Given the description of an element on the screen output the (x, y) to click on. 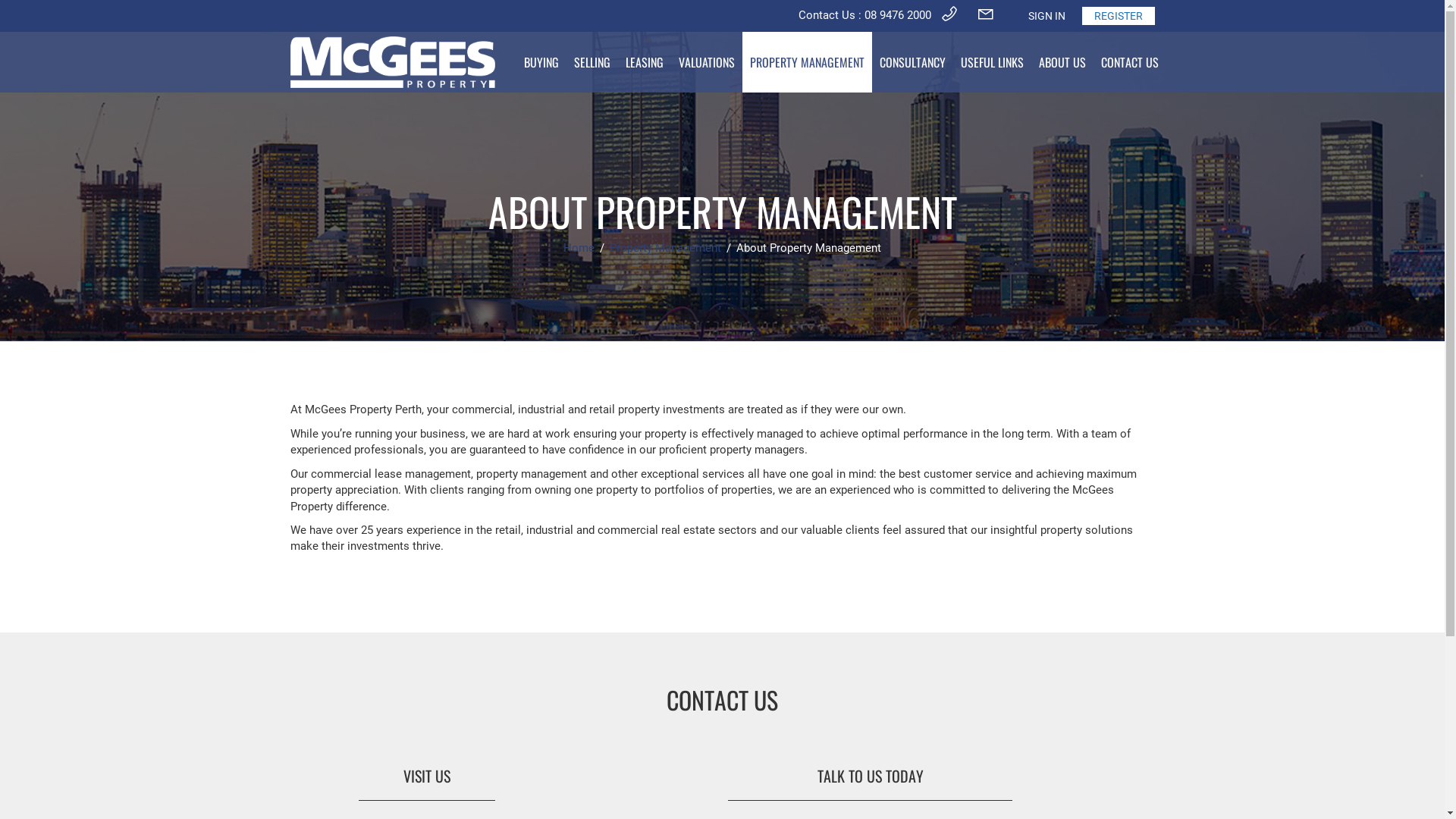
PROPERTY MANAGEMENT Element type: text (806, 61)
08 9476 2000 Element type: text (897, 14)
BUYING Element type: text (540, 61)
ABOUT US Element type: text (1062, 61)
VALUATIONS Element type: text (705, 61)
CONSULTANCY Element type: text (912, 61)
Home Element type: text (580, 247)
Property Management Element type: text (666, 247)
LEASING Element type: text (643, 61)
USEFUL LINKS Element type: text (991, 61)
CONTACT US Element type: text (1129, 61)
REGISTER Element type: text (1117, 15)
SELLING Element type: text (591, 61)
SIGN IN Element type: text (1046, 15)
